Given the description of an element on the screen output the (x, y) to click on. 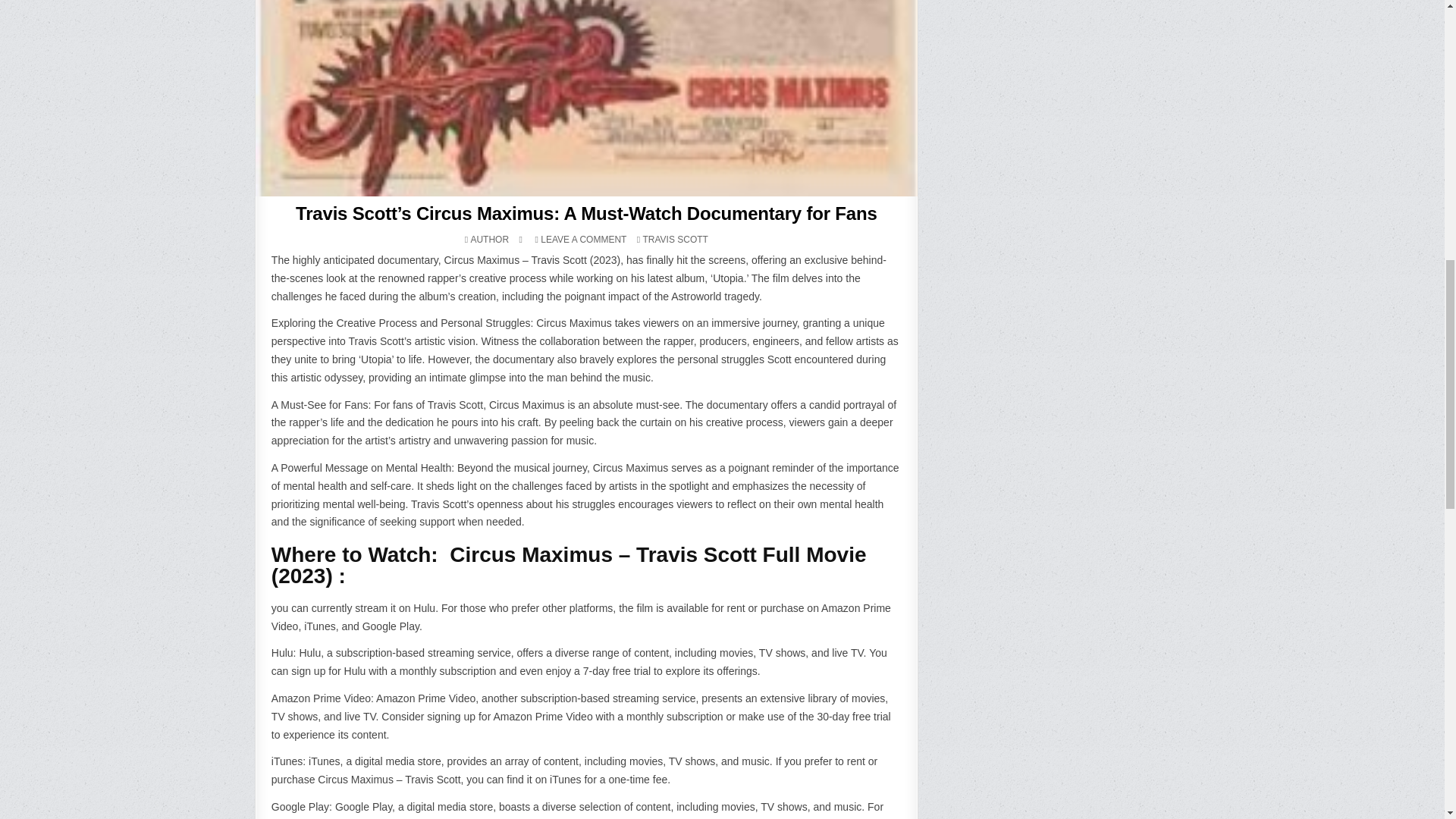
TRAVIS SCOTT (674, 239)
AUTHOR (489, 239)
